Given the description of an element on the screen output the (x, y) to click on. 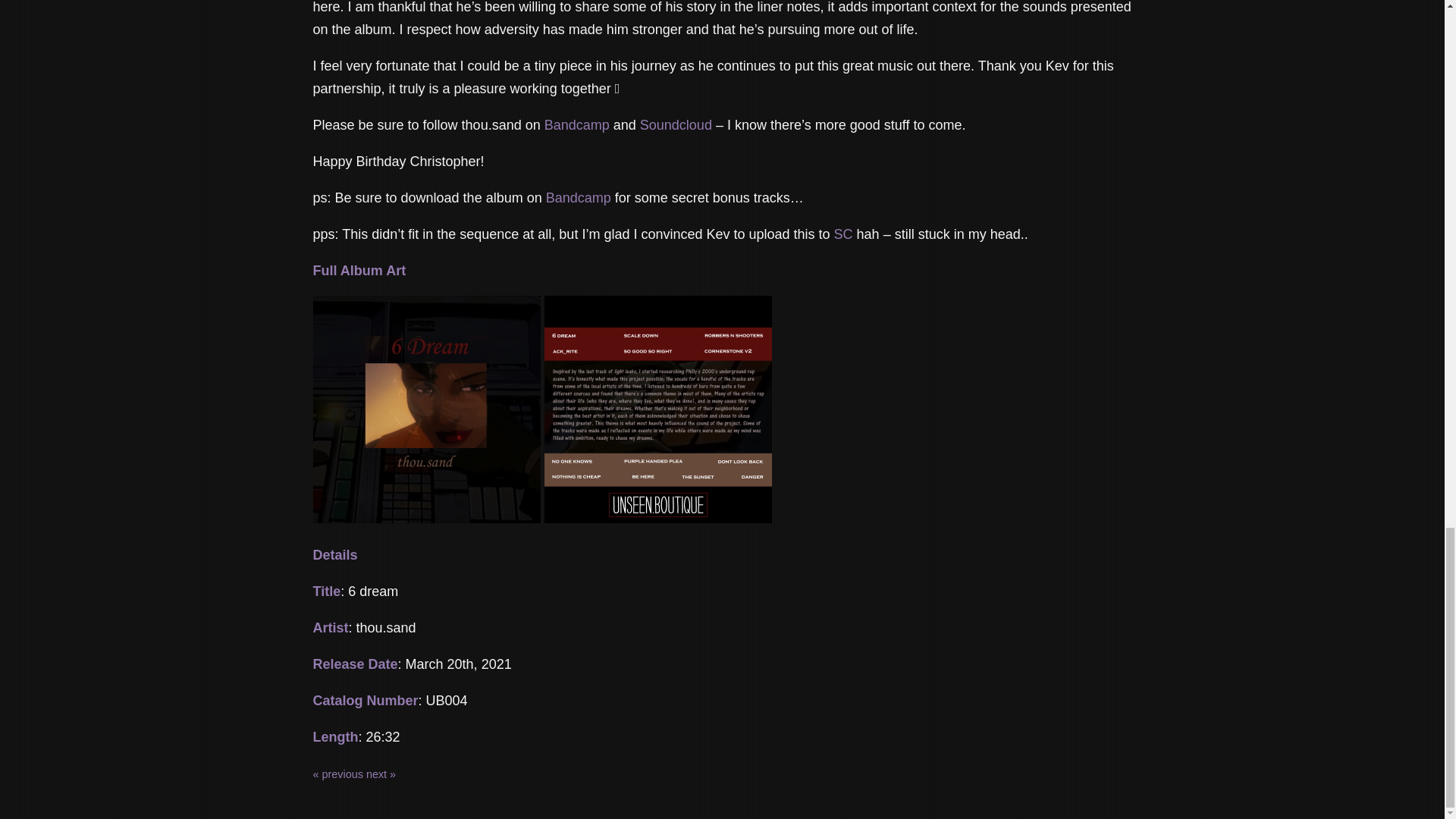
SC (843, 233)
Soundcloud (675, 124)
Bandcamp (578, 197)
Bandcamp (577, 124)
